Given the description of an element on the screen output the (x, y) to click on. 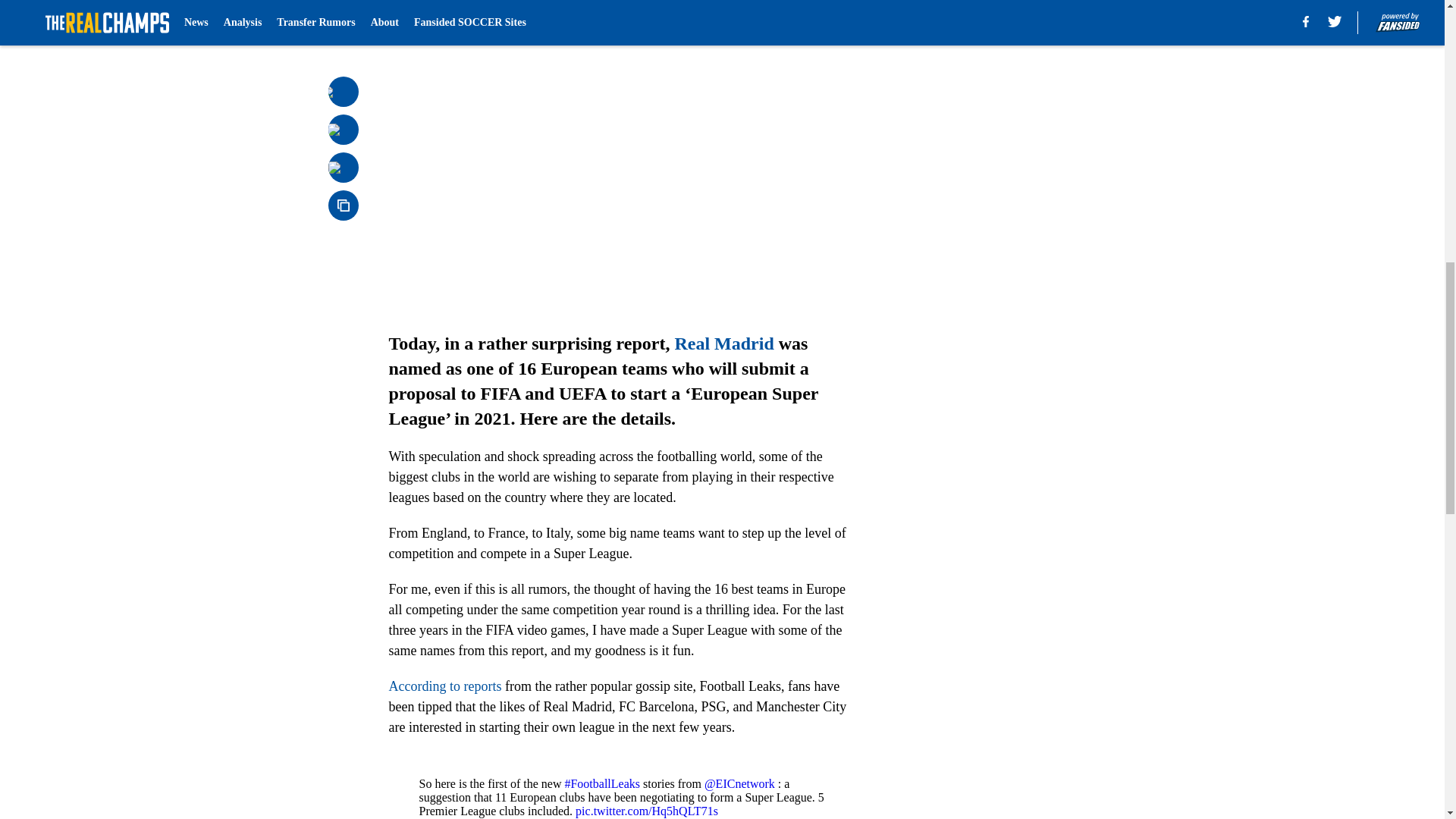
Real Madrid (723, 342)
According to reports (444, 685)
